Given the description of an element on the screen output the (x, y) to click on. 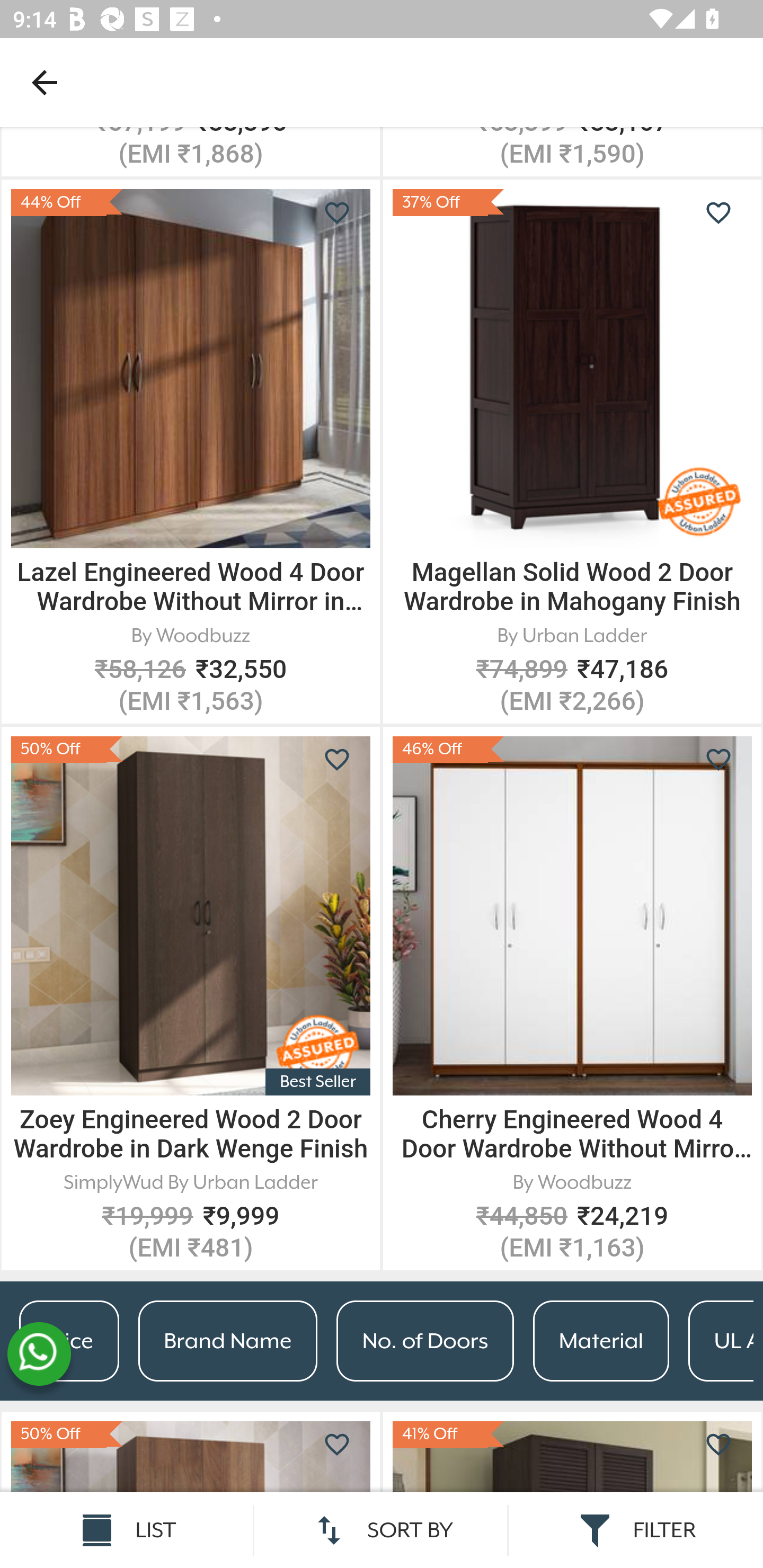
Navigate up (44, 82)
whatsapp (38, 1354)
Brand Name (227, 1341)
No. of Doors (425, 1341)
Material (600, 1341)
LIST (127, 1530)
SORT BY (381, 1530)
FILTER (635, 1530)
